Given the description of an element on the screen output the (x, y) to click on. 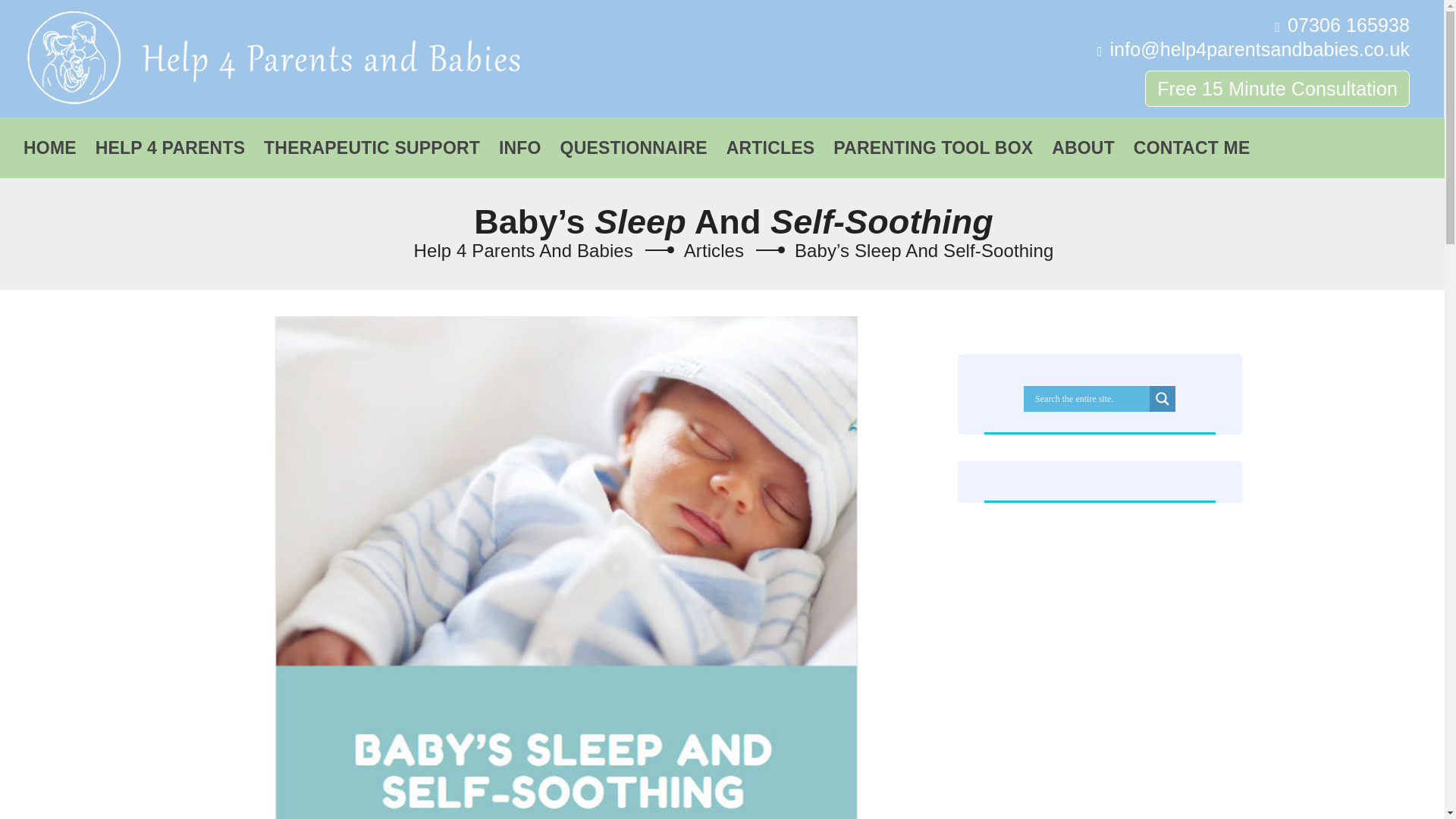
Go to the Articles Category archives. (714, 250)
Help 4 Parents and Babies (268, 56)
ABOUT (1082, 139)
INFO (520, 139)
QUESTIONNAIRE (633, 139)
HOME (49, 139)
ARTICLES (770, 139)
CONTACT ME (1192, 139)
THERAPEUTIC SUPPORT (371, 139)
Go to Help 4 Parents and Babies. (523, 250)
HELP 4 PARENTS (170, 139)
PARENTING TOOL BOX (933, 139)
Articles (714, 250)
07306 165938 (1348, 25)
Free 15 Minute Consultation (1276, 88)
